Given the description of an element on the screen output the (x, y) to click on. 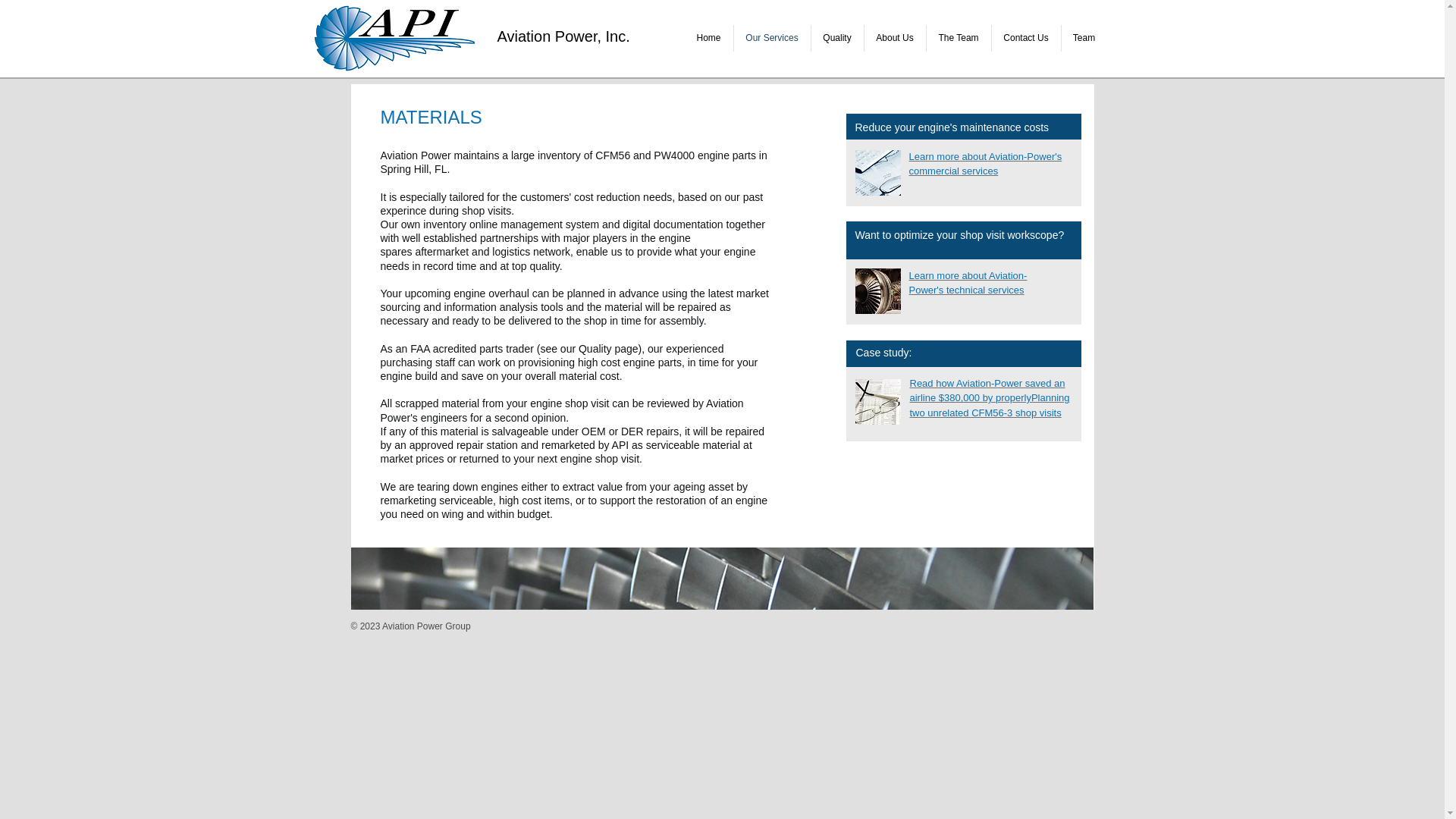
Quality (836, 38)
Our Services (771, 38)
About Us (895, 38)
Learn more about Aviation-Power's commercial services (984, 163)
case study -link.jpg (878, 402)
Team (1083, 38)
Contact Us (1026, 38)
Edited Image 2014-2-18-10:34:37 (878, 290)
Home (708, 38)
Quality (594, 348)
commercial - link.jpg 2014-3-26-13:26:22 (878, 172)
Learn more about Aviation-Power's technical services (967, 283)
The Team (958, 38)
API-Logo-Image.png (394, 37)
